Given the description of an element on the screen output the (x, y) to click on. 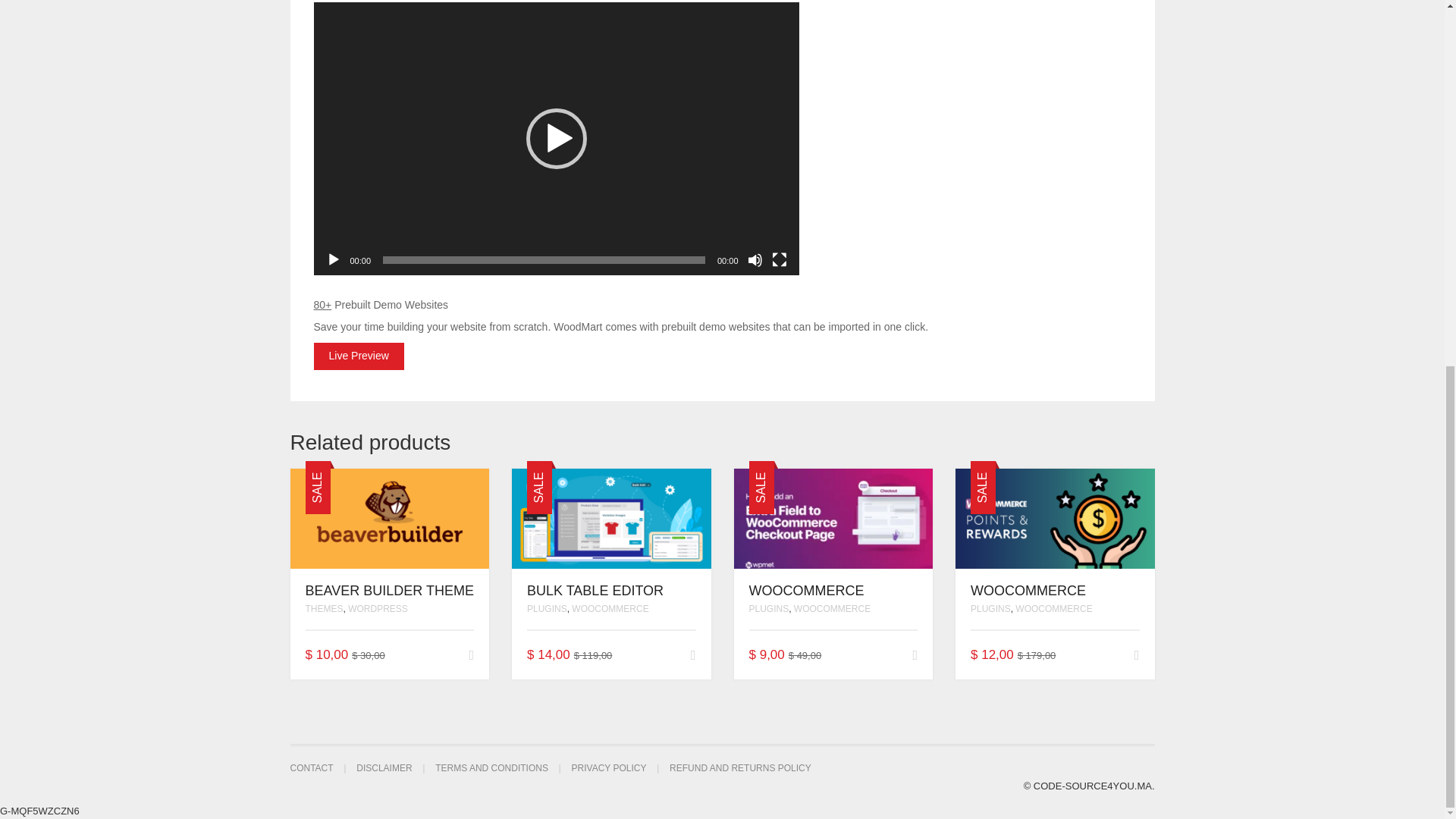
Mute (755, 259)
Fullscreen (779, 259)
Play (333, 259)
